Given the description of an element on the screen output the (x, y) to click on. 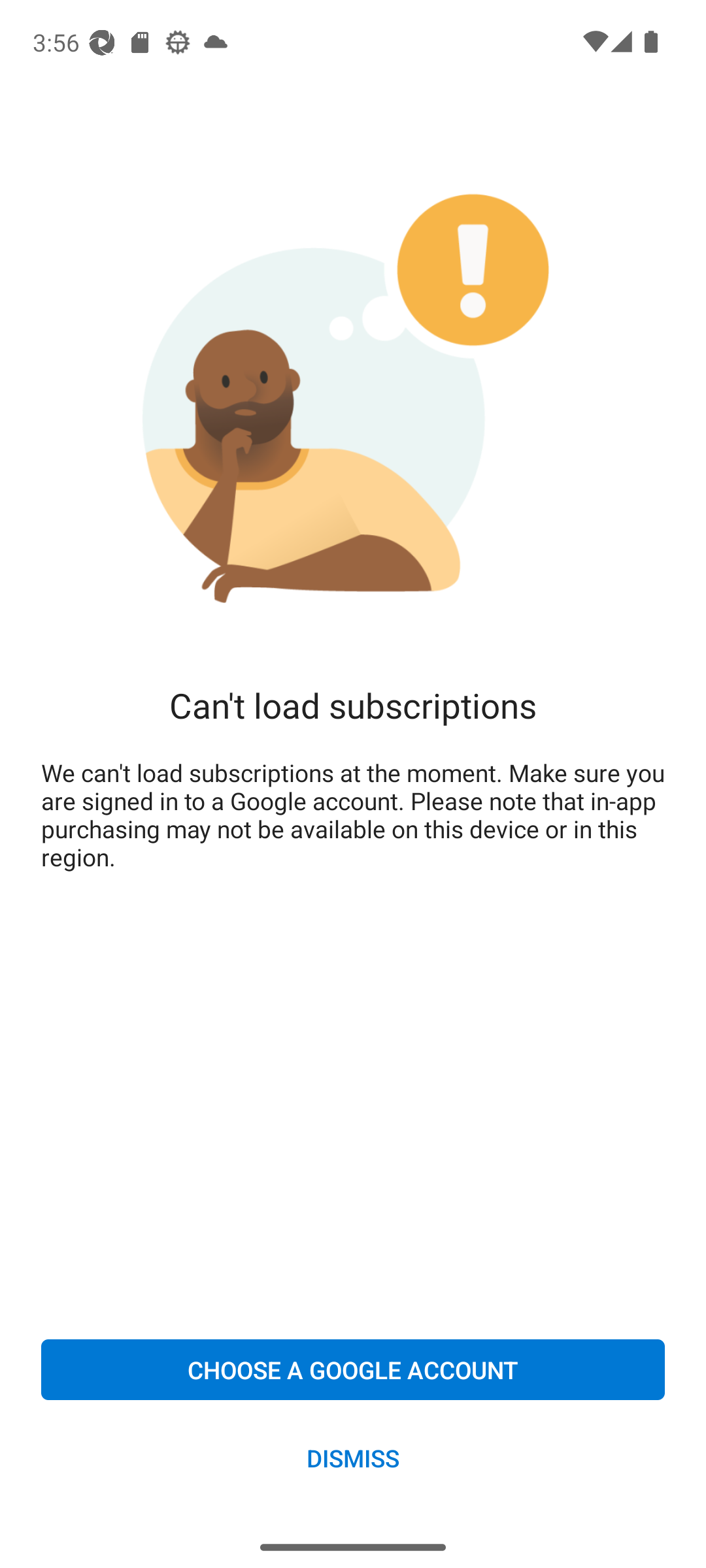
CHOOSE A GOOGLE ACCOUNT (352, 1369)
DISMISS (352, 1457)
